Given the description of an element on the screen output the (x, y) to click on. 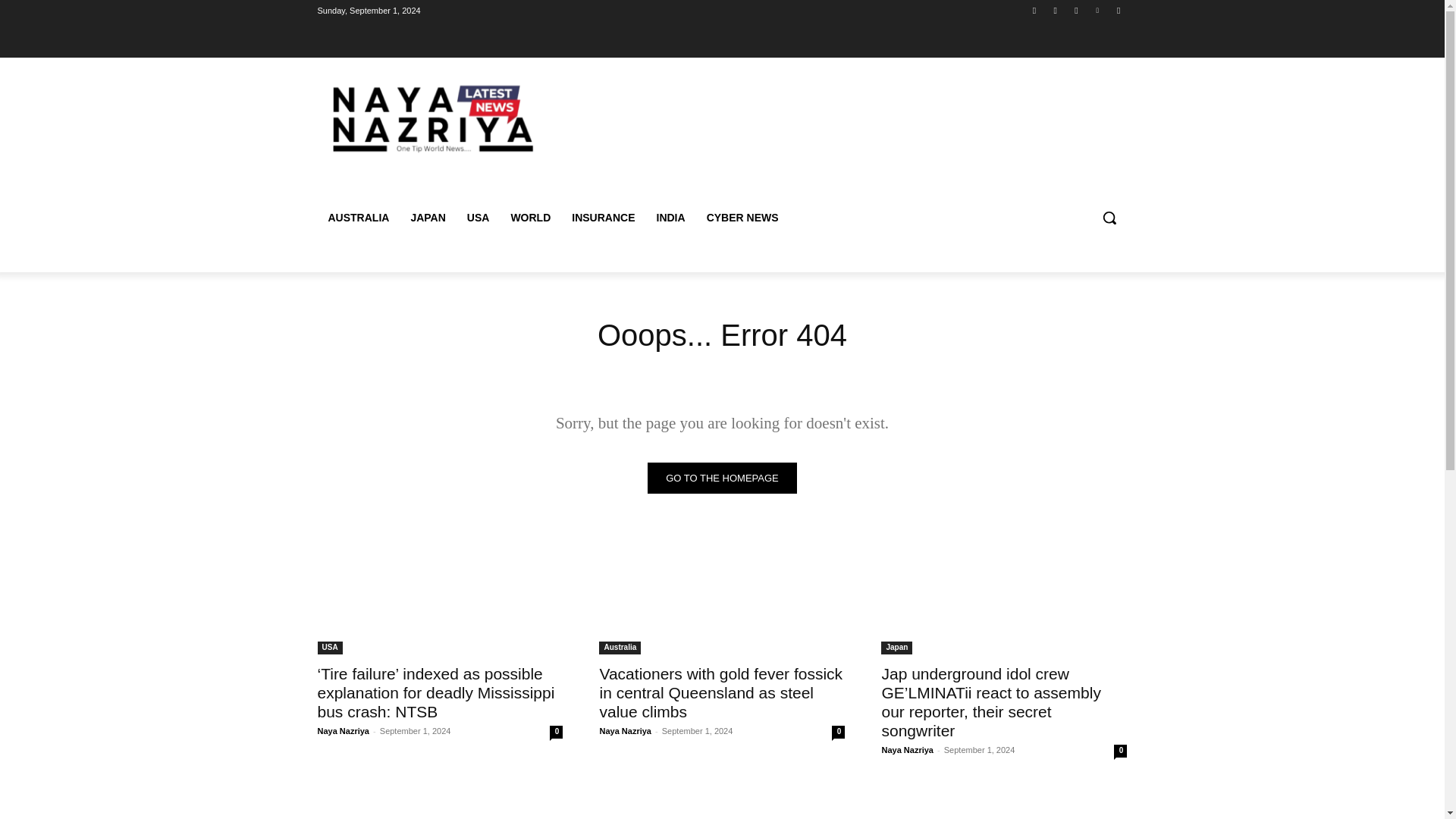
USA (329, 647)
Facebook (1034, 9)
AUSTRALIA (357, 217)
Go to the homepage (721, 477)
Australia (619, 647)
GO TO THE HOMEPAGE (721, 477)
Instagram (1055, 9)
0 (1119, 750)
Naya Nazriya (343, 730)
